Given the description of an element on the screen output the (x, y) to click on. 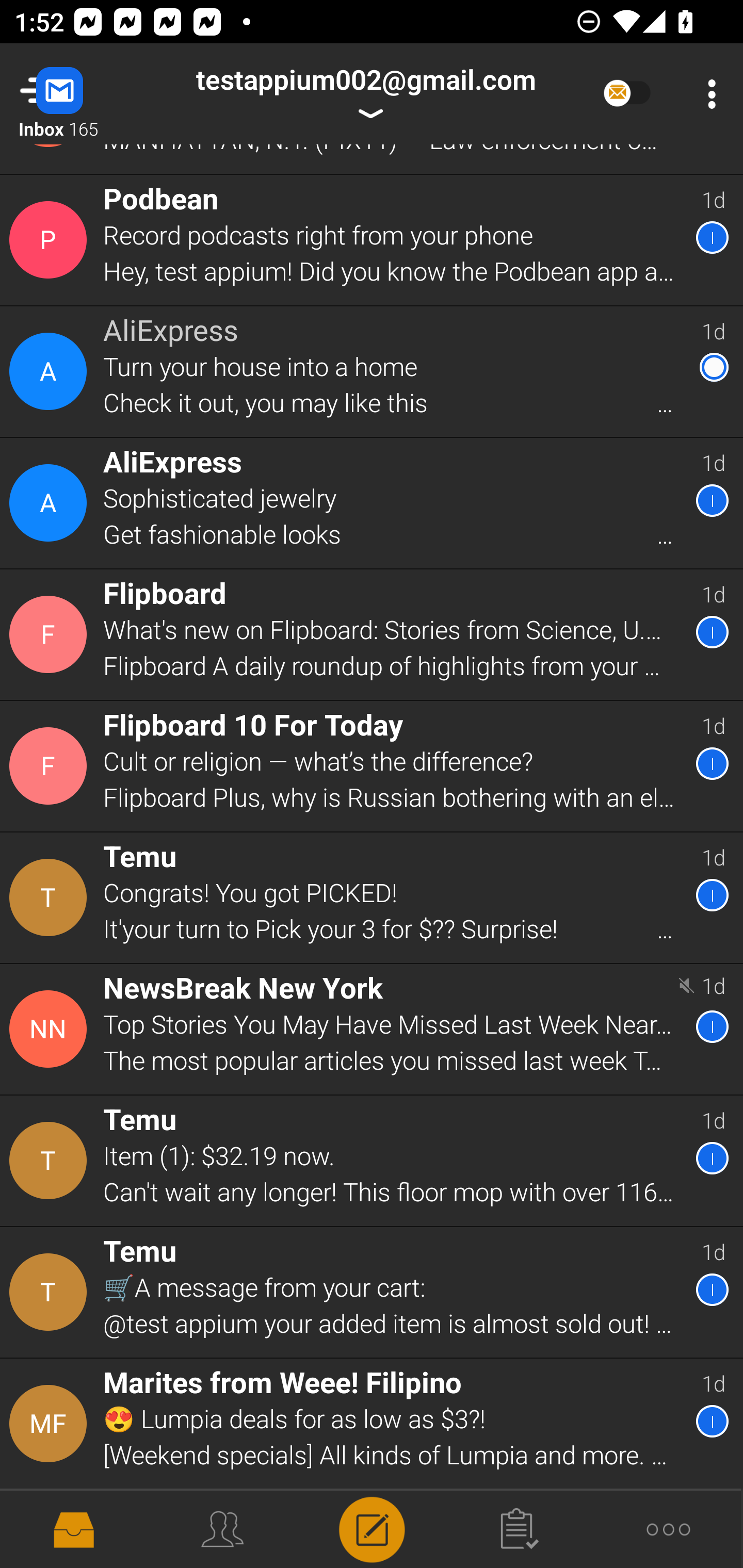
Navigate up (81, 93)
testappium002@gmail.com (365, 93)
More Options (706, 93)
Contact Details (50, 240)
Contact Details (50, 371)
Contact Details (50, 502)
Contact Details (50, 634)
Contact Details (50, 765)
Contact Details (50, 897)
Contact Details (50, 1029)
Contact Details (50, 1161)
Contact Details (50, 1292)
Contact Details (50, 1423)
Compose (371, 1528)
Contact Details (50, 1528)
